Given the description of an element on the screen output the (x, y) to click on. 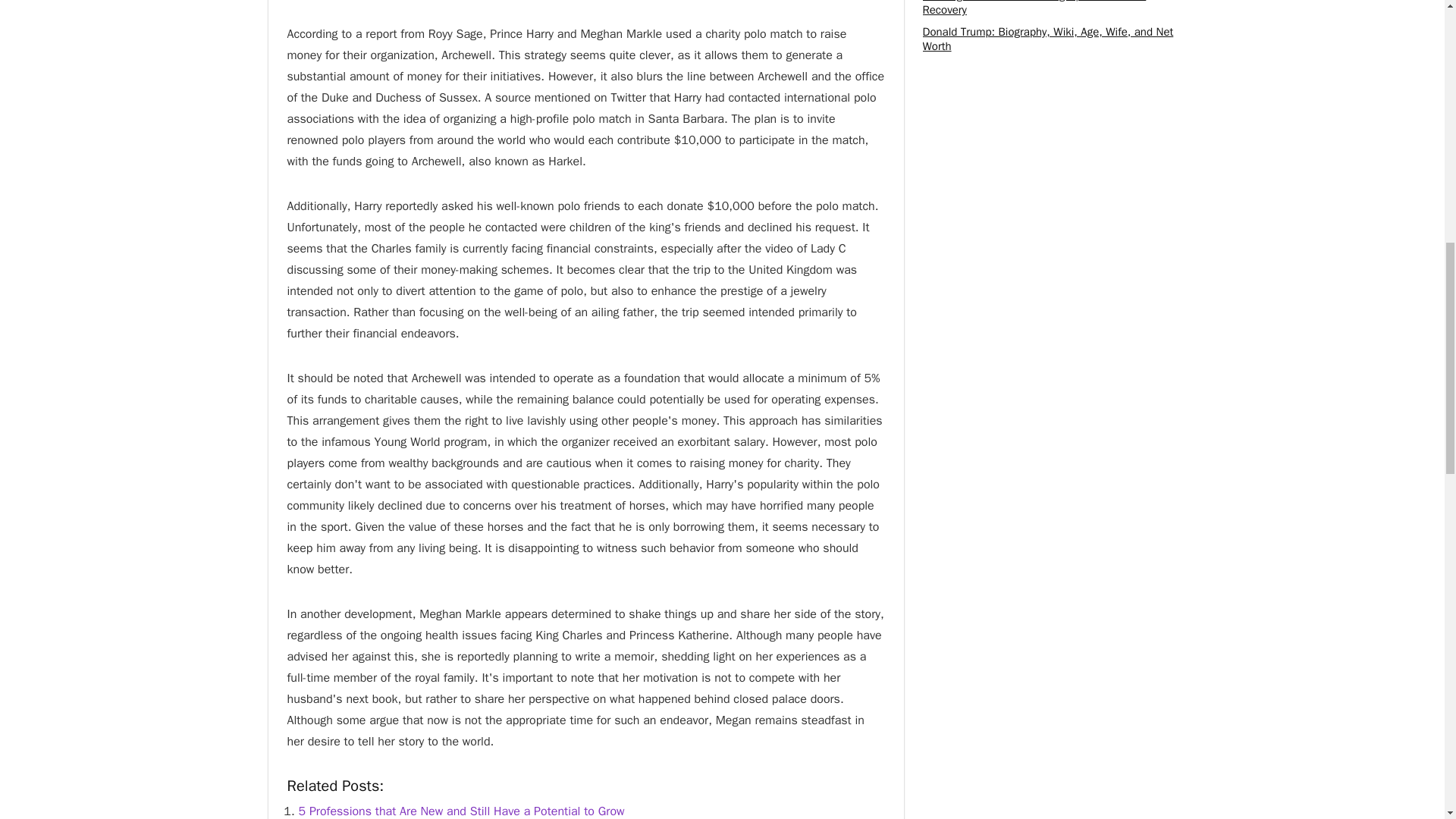
Donald Trump: Biography, Wiki, Age, Wife, and Net Worth (1047, 39)
Oncologist Shares Promising Updates on Her Recovery (1033, 8)
